Given the description of an element on the screen output the (x, y) to click on. 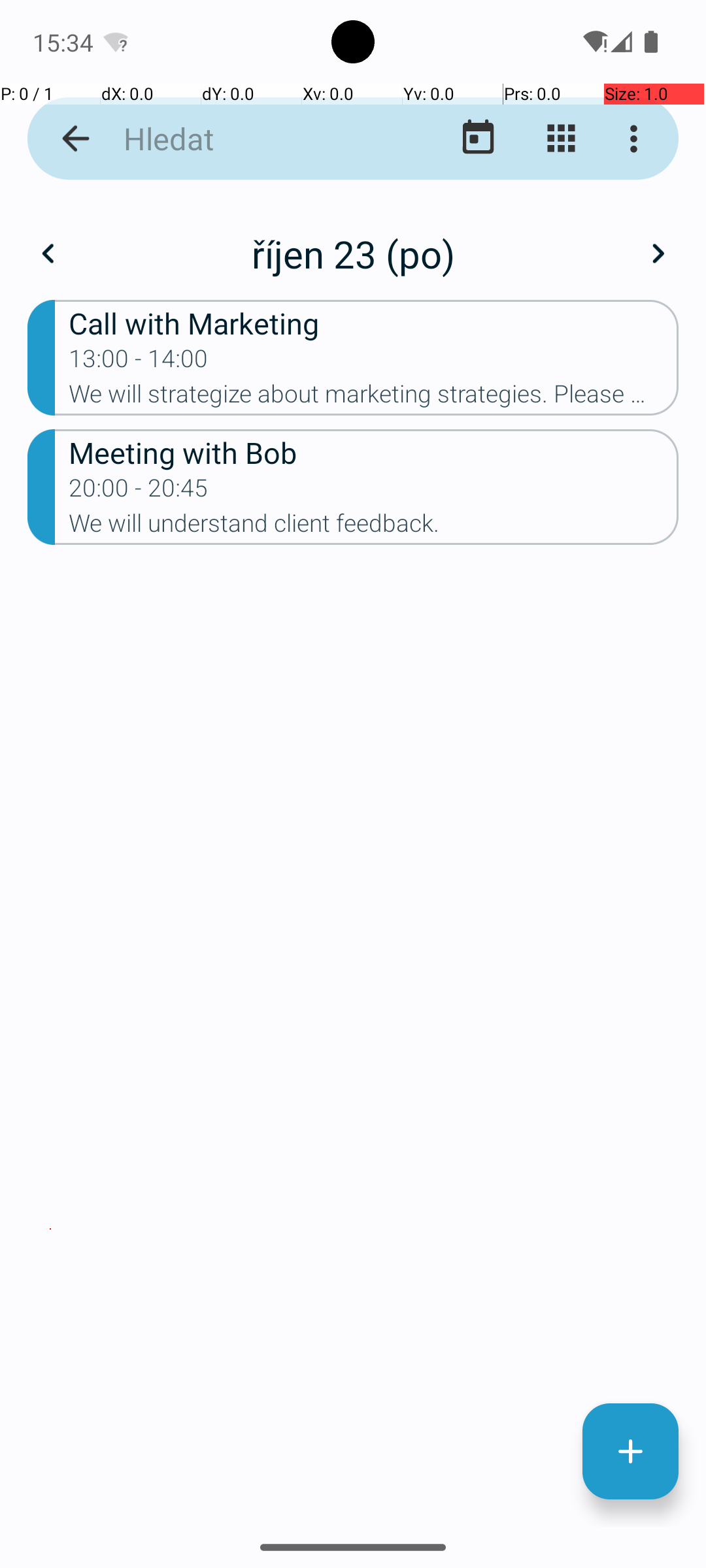
Hledat Element type: android.widget.EditText (252, 138)
Přejít na dnešní datum Element type: android.widget.Button (477, 138)
Změnit zobrazení Element type: android.widget.Button (560, 138)
Další možnosti Element type: android.widget.ImageView (636, 138)
Nová událost Element type: android.widget.ImageButton (630, 1451)
říjen Element type: android.widget.TextView (352, 239)
říjen 23 (po) Element type: android.widget.TextView (352, 253)
13:00 - 14:00 Element type: android.widget.TextView (137, 362)
We will strategize about marketing strategies. Please bring relevant documents. Element type: android.widget.TextView (373, 397)
20:00 - 20:45 Element type: android.widget.TextView (137, 491)
We will understand client feedback. Element type: android.widget.TextView (373, 526)
